Given the description of an element on the screen output the (x, y) to click on. 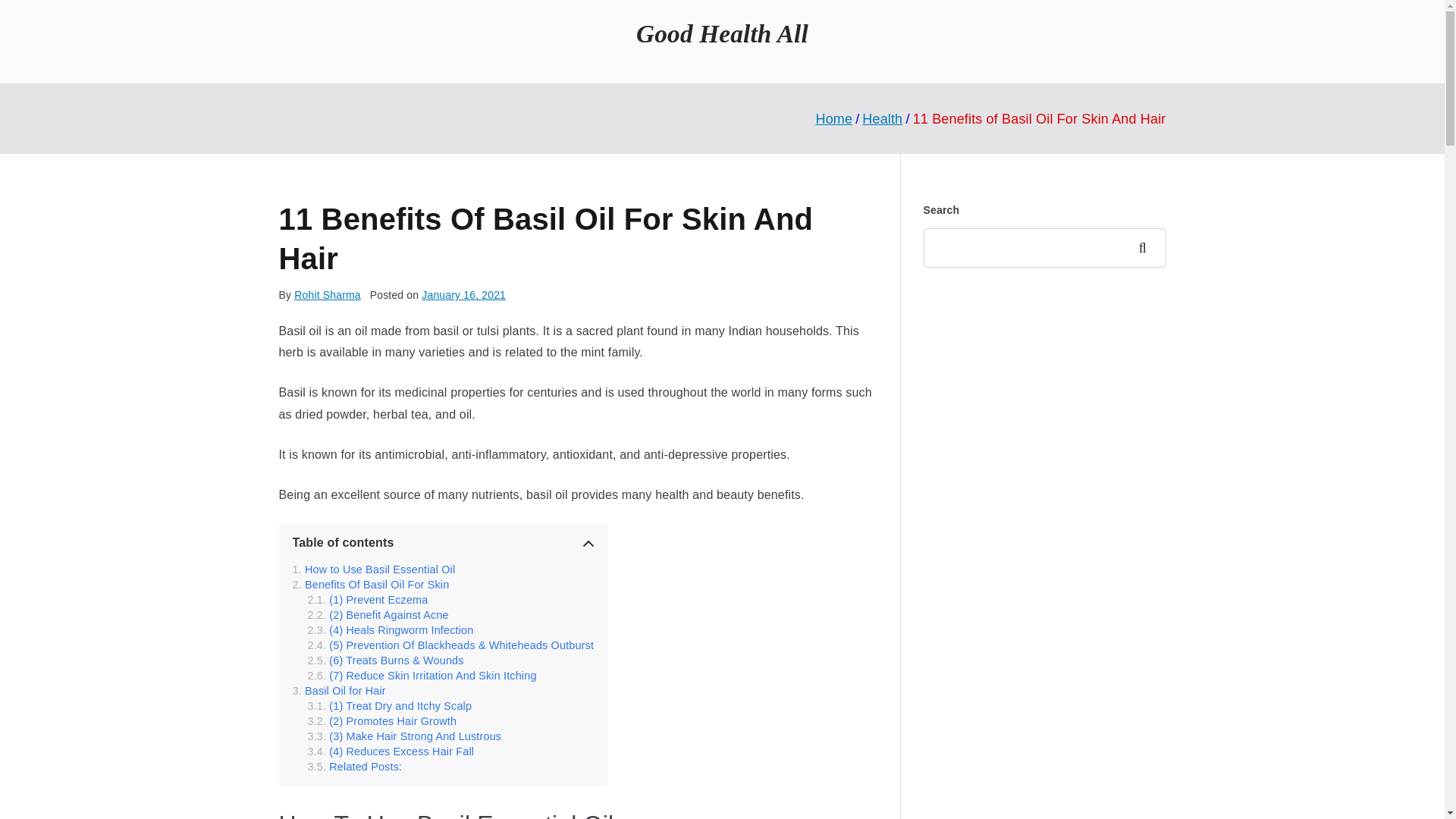
Good Health All (722, 33)
Benefits Of Basil Oil For Skin (370, 584)
Related Posts: (355, 766)
How to Use Basil Essential Oil (373, 569)
Search (1147, 247)
Basil Oil for Hair (338, 690)
Rohit Sharma (327, 295)
Related Posts: (355, 766)
Home (833, 118)
How to Use Basil Essential Oil (373, 569)
